Given the description of an element on the screen output the (x, y) to click on. 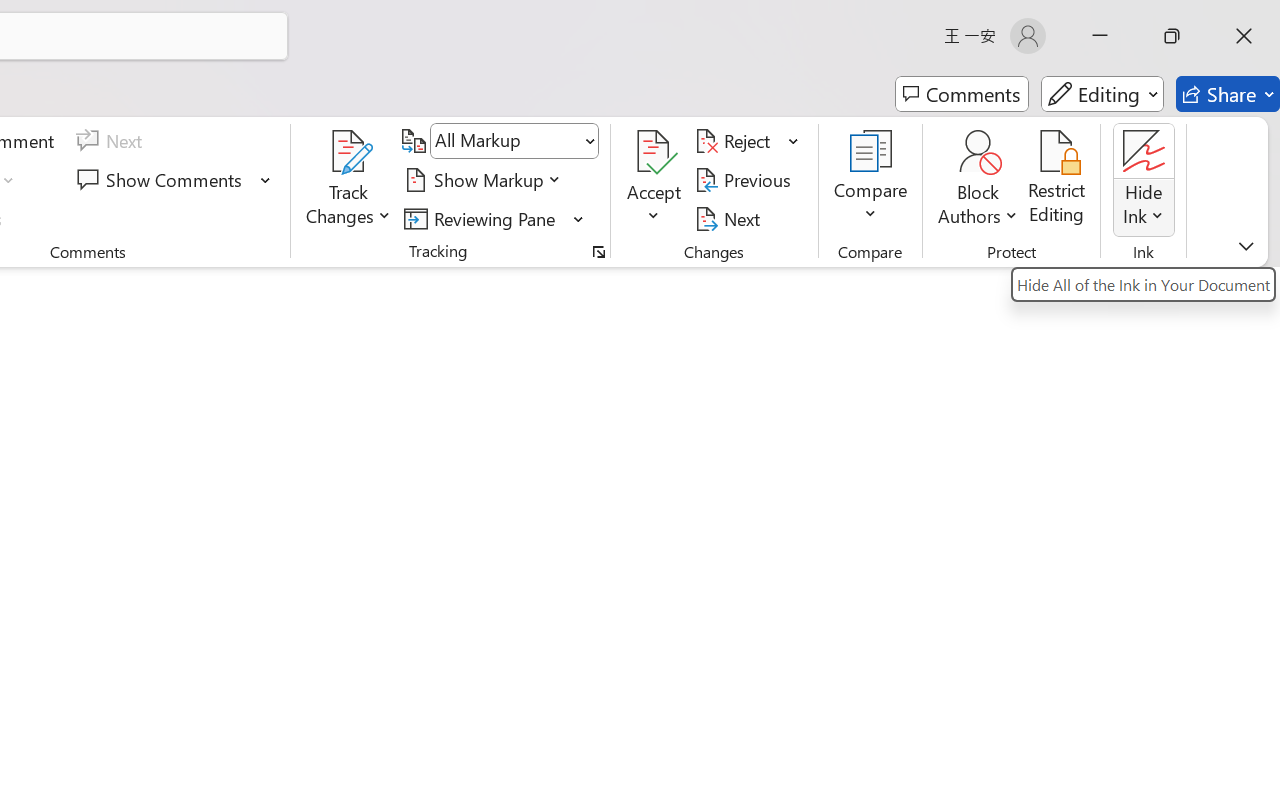
Restore Down (1172, 36)
Minimize (1099, 36)
Open (588, 141)
Reviewing Pane (494, 218)
Display for Review (514, 141)
Compare (870, 179)
Hide Ink (1144, 151)
Show Comments (162, 179)
Show Markup (485, 179)
Next (730, 218)
Previous (745, 179)
Accept and Move to Next (653, 151)
Show Comments (174, 179)
Hide Ink (1144, 179)
Comments (961, 94)
